Given the description of an element on the screen output the (x, y) to click on. 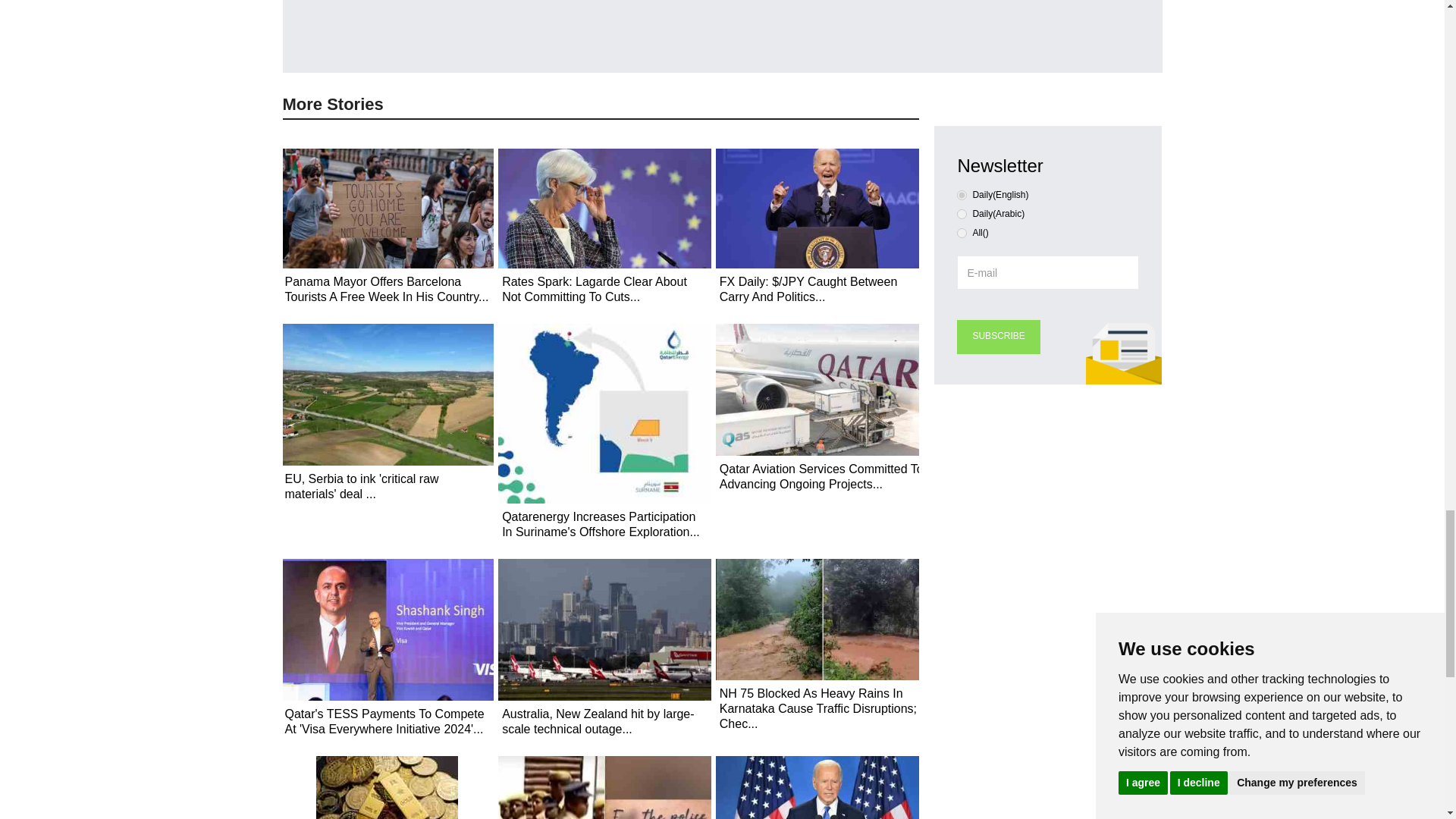
2 (961, 233)
1 (961, 214)
Subscribe (997, 336)
0 (961, 194)
